Given the description of an element on the screen output the (x, y) to click on. 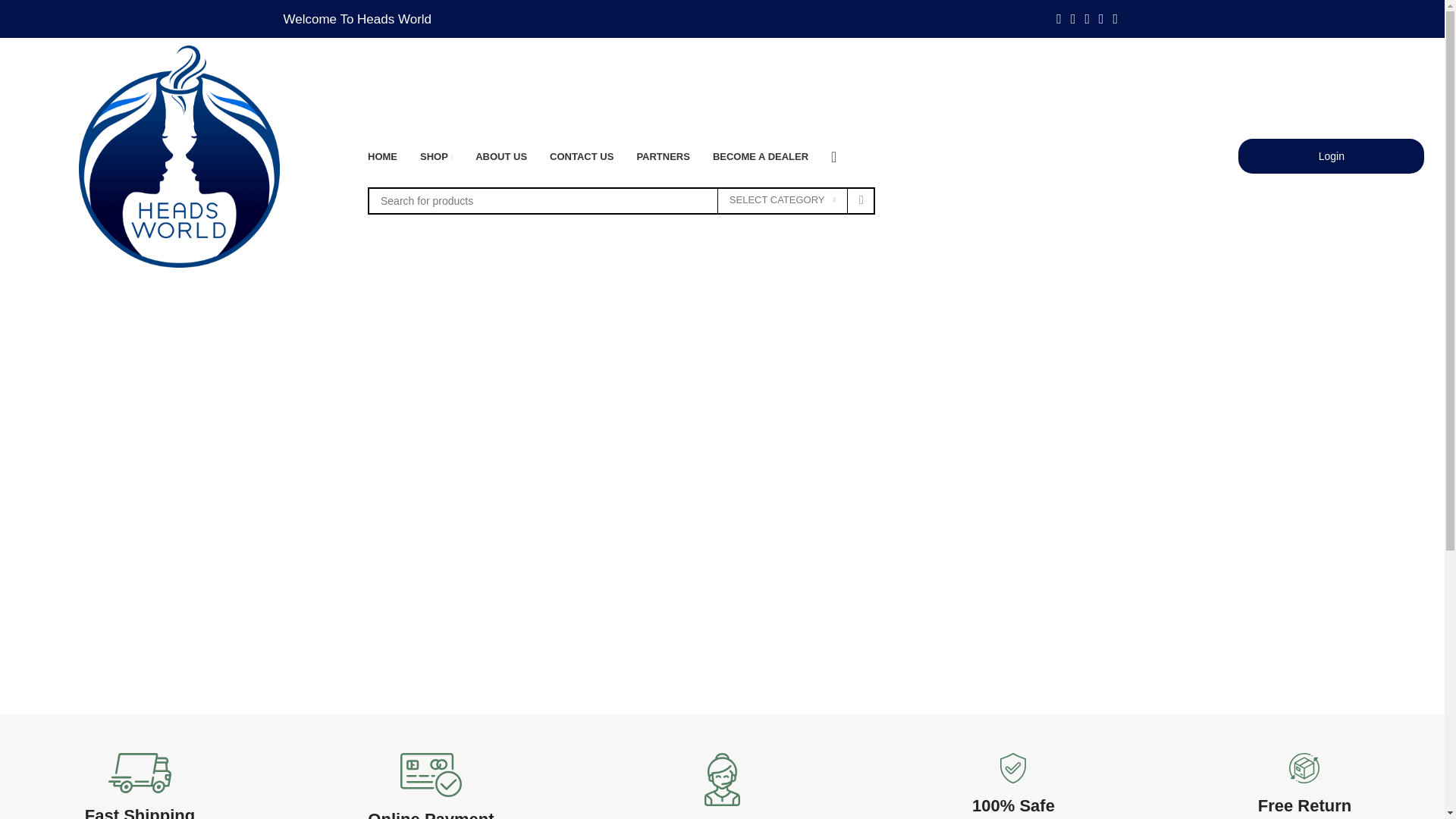
HOME (382, 156)
SHOP (436, 156)
Search for products (621, 200)
SELECT CATEGORY (782, 200)
